Given the description of an element on the screen output the (x, y) to click on. 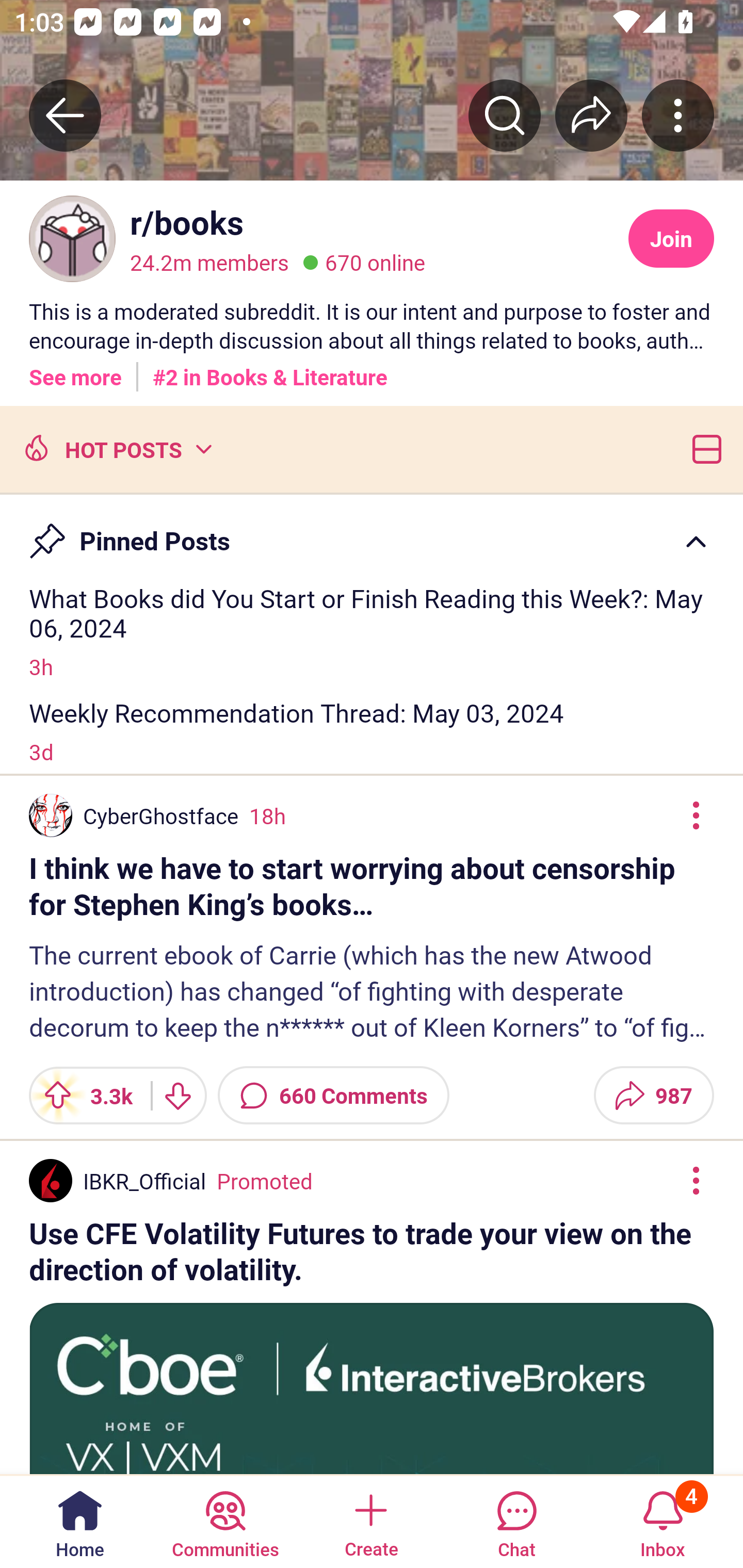
Back (64, 115)
Search r/﻿books (504, 115)
Share r/﻿books (591, 115)
More community actions (677, 115)
Hot posts HOT POSTS (116, 448)
Card (703, 448)
Pin Pinned Posts Caret (371, 531)
Weekly Recommendation Thread: May 03, 2024 3d (371, 731)
Home (80, 1520)
Communities (225, 1520)
Create a post Create (370, 1520)
Chat (516, 1520)
Inbox, has 4 notifications 4 Inbox (662, 1520)
